Given the description of an element on the screen output the (x, y) to click on. 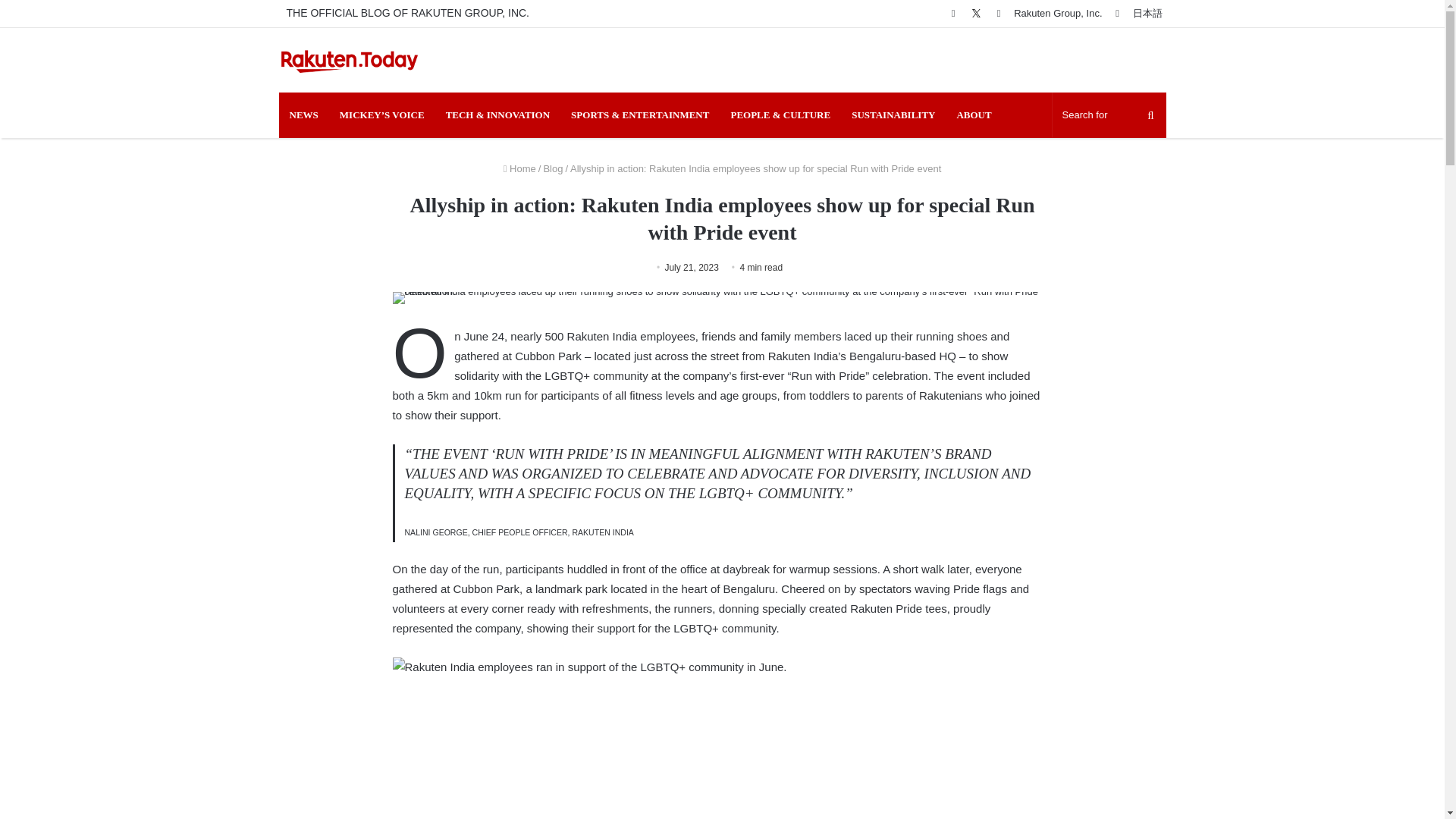
Home (519, 168)
Blog (552, 168)
Rakuten Today (349, 59)
Rakuten Group, Inc. (1057, 13)
NEWS (304, 115)
SUSTAINABILITY (892, 115)
Search for (1109, 115)
THE OFFICIAL BLOG OF RAKUTEN GROUP, INC. (408, 13)
ABOUT (972, 115)
